Given the description of an element on the screen output the (x, y) to click on. 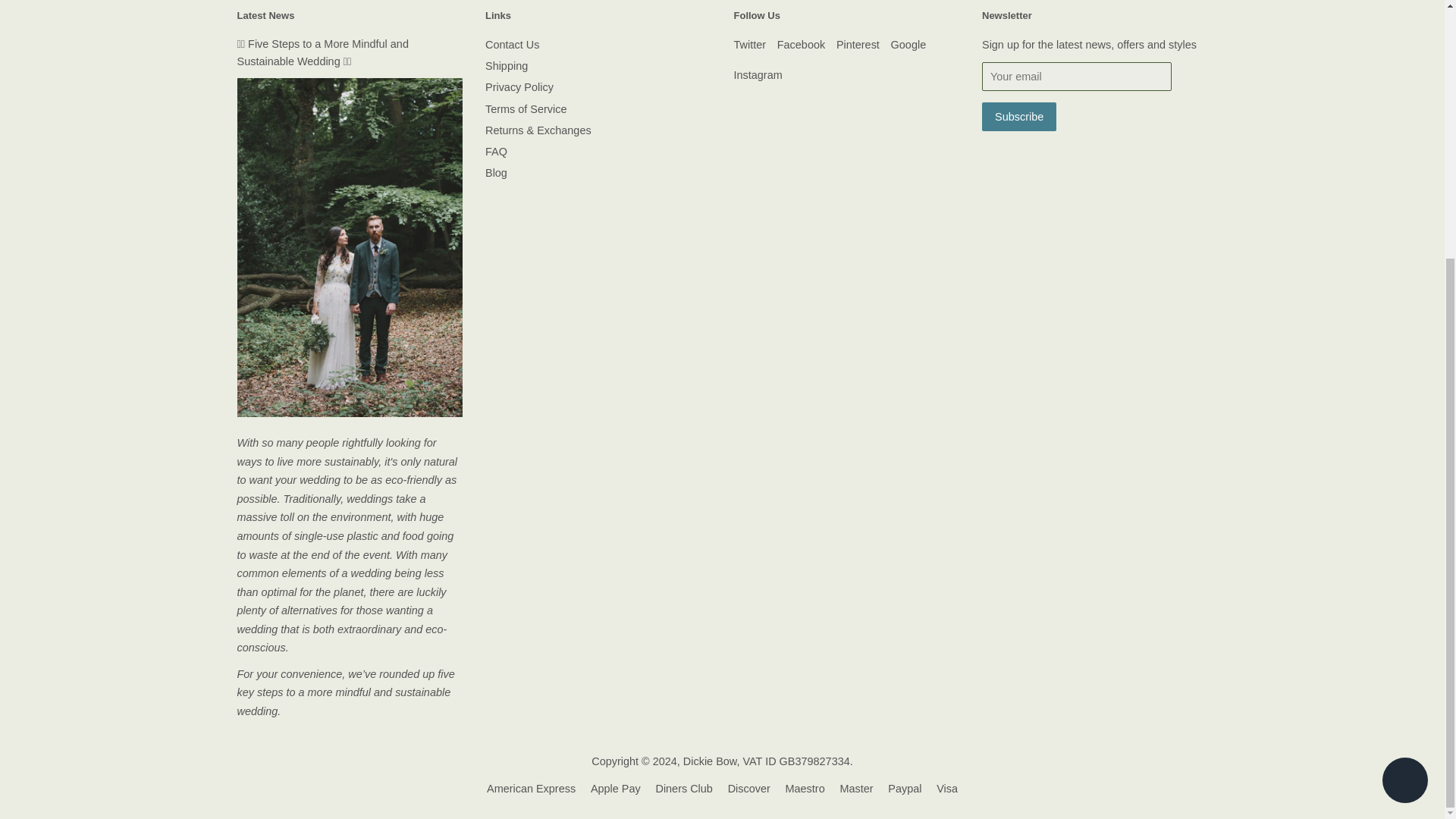
Dickie Bow on Instagram (758, 74)
Dickie Bow on Pinterest (857, 44)
Dickie Bow on Google Plus (908, 44)
Shopify online store chat (1404, 412)
Dickie Bow on Facebook (801, 44)
Subscribe (1019, 116)
Dickie Bow on Twitter (750, 44)
